Given the description of an element on the screen output the (x, y) to click on. 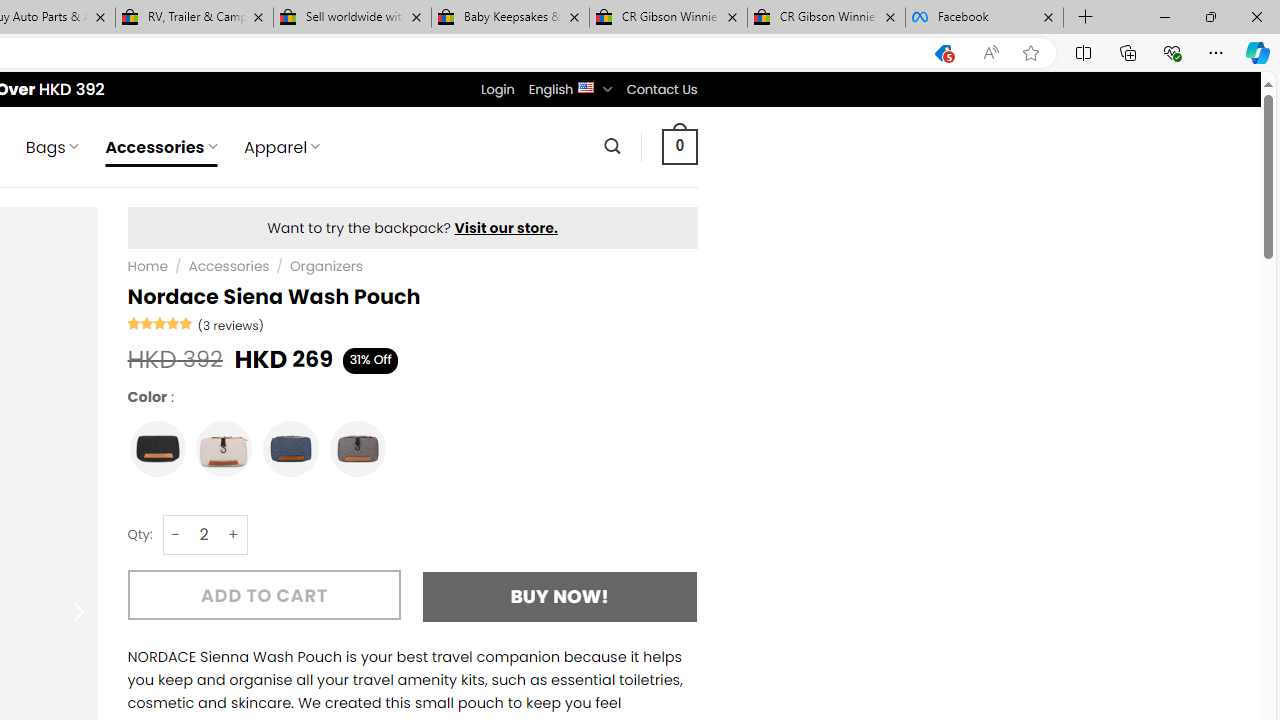
Browser essentials (1171, 52)
New Tab (1085, 17)
This site has coupons! Shopping in Microsoft Edge, 5 (943, 53)
Accessories (229, 267)
  0   (679, 146)
Home (147, 267)
Search (612, 146)
Restore (1210, 16)
Settings and more (Alt+F) (1215, 52)
ADD TO CART (263, 595)
Login (497, 89)
